Given the description of an element on the screen output the (x, y) to click on. 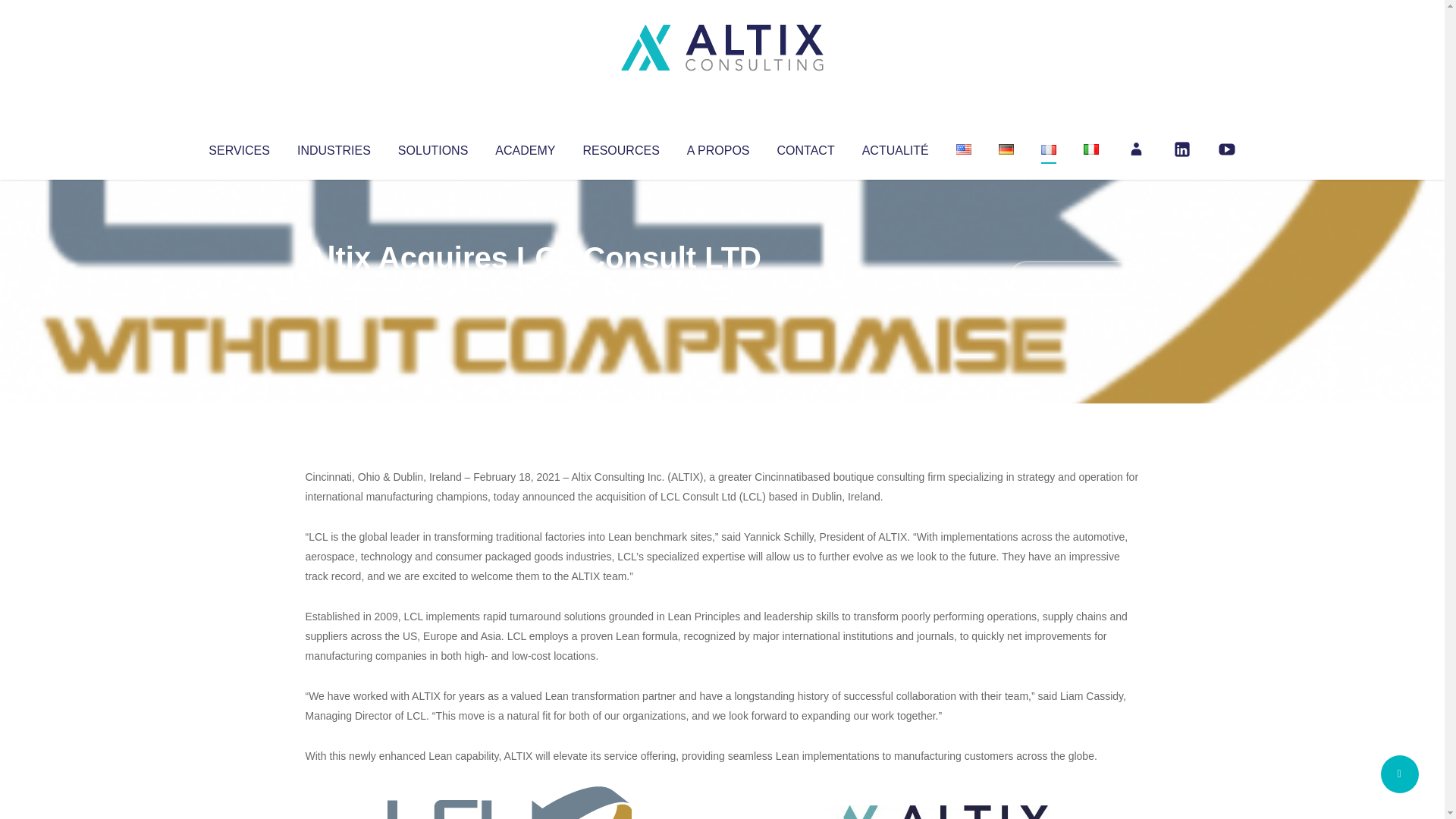
SOLUTIONS (432, 146)
Altix (333, 287)
RESOURCES (620, 146)
ACADEMY (524, 146)
SERVICES (238, 146)
Uncategorized (530, 287)
A PROPOS (718, 146)
INDUSTRIES (334, 146)
No Comments (1073, 278)
Articles par Altix (333, 287)
